Given the description of an element on the screen output the (x, y) to click on. 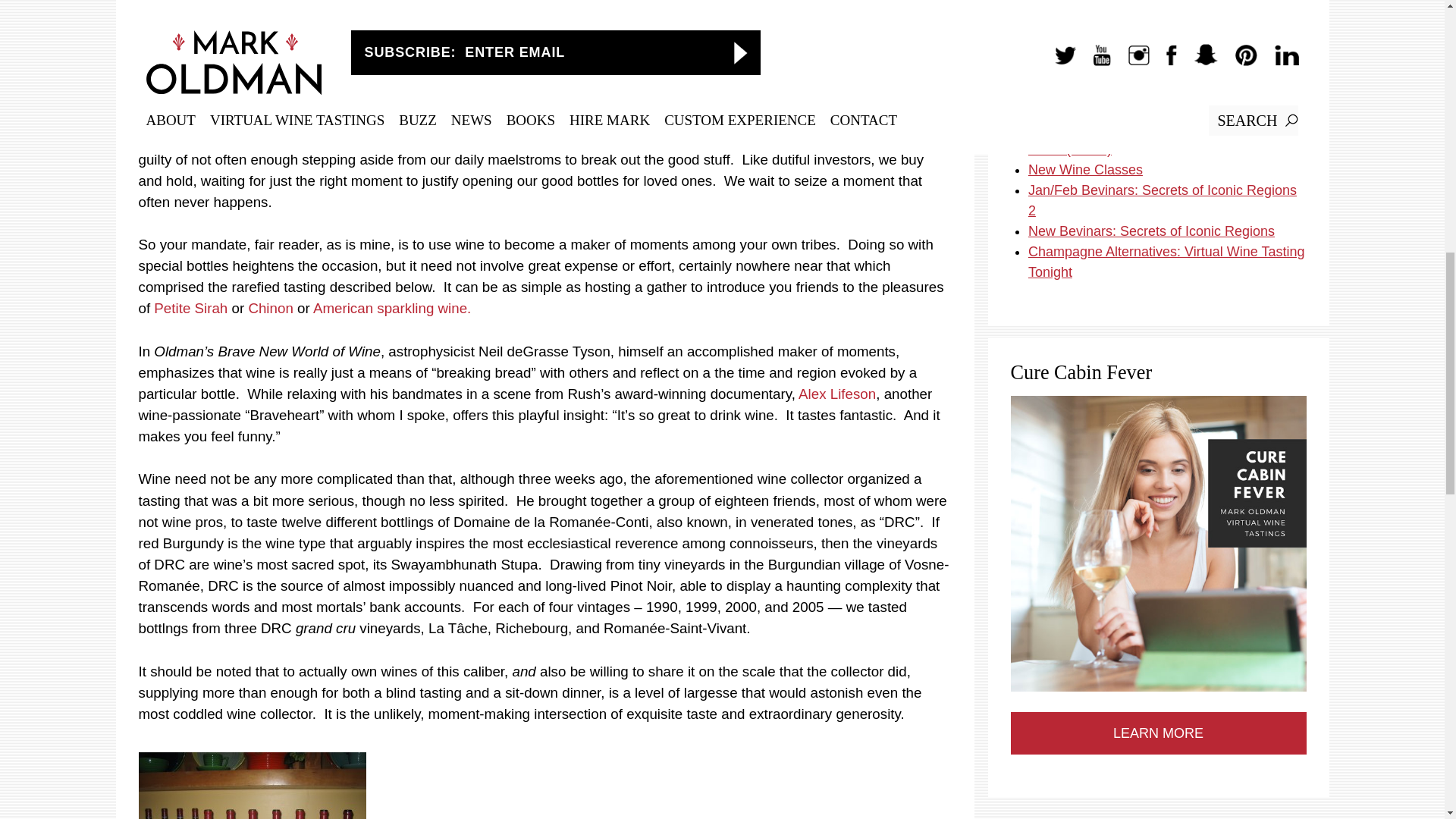
Petite Sirah (190, 308)
Chinon (269, 308)
American sparkling wine. (391, 308)
Alex Lifeson (836, 393)
ManybottlesDRC (251, 785)
